Given the description of an element on the screen output the (x, y) to click on. 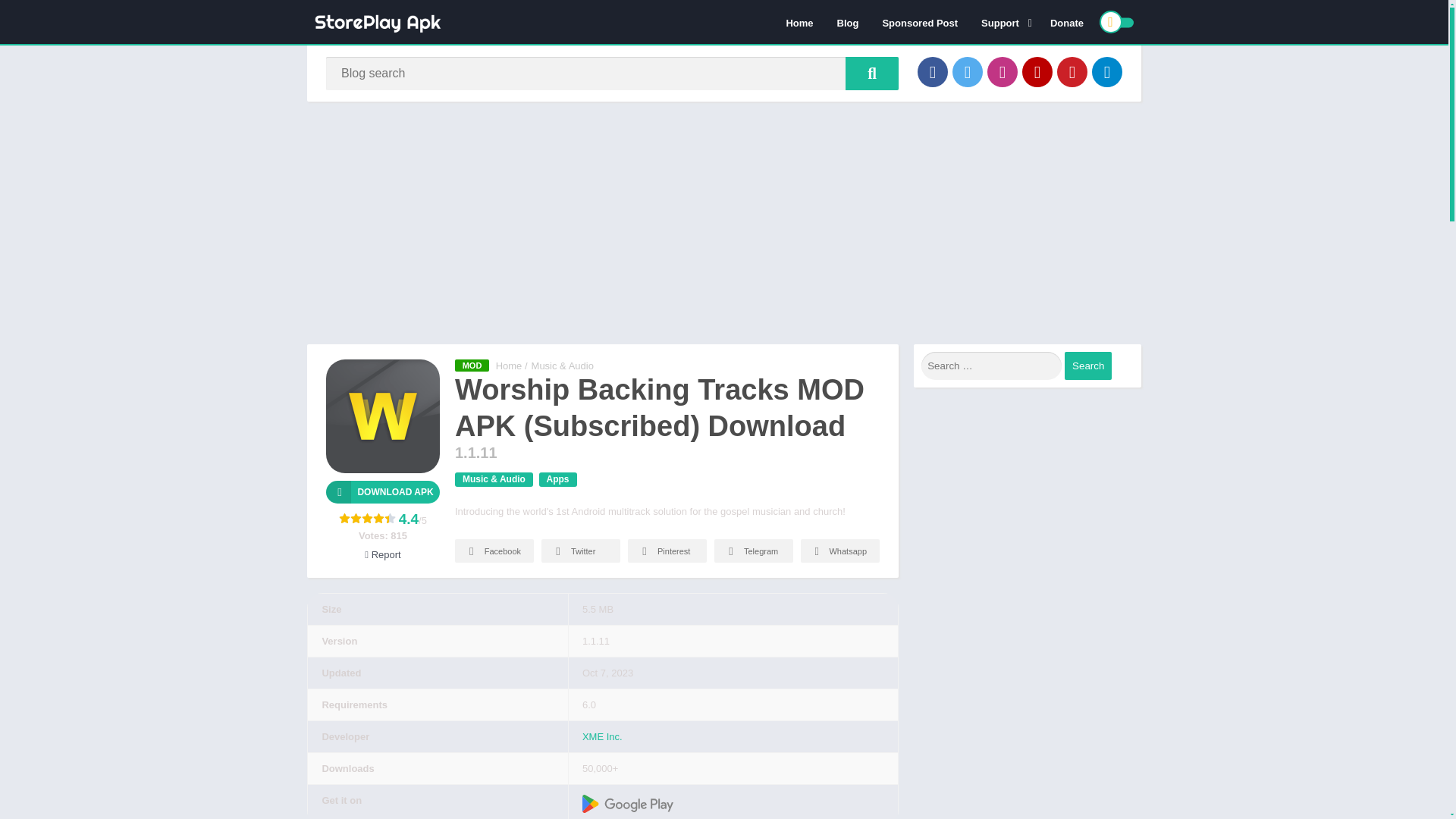
Support (1003, 22)
Search (1088, 366)
StorePlay Apk (509, 365)
Instagram (1002, 71)
Sponsored Post (919, 22)
Blog search (871, 73)
Home (799, 22)
Twitter (967, 71)
Download APK (382, 491)
YouTube (1037, 71)
Blog (847, 22)
Pinterest (1072, 71)
Donate (1066, 22)
Facebook (932, 71)
